Given the description of an element on the screen output the (x, y) to click on. 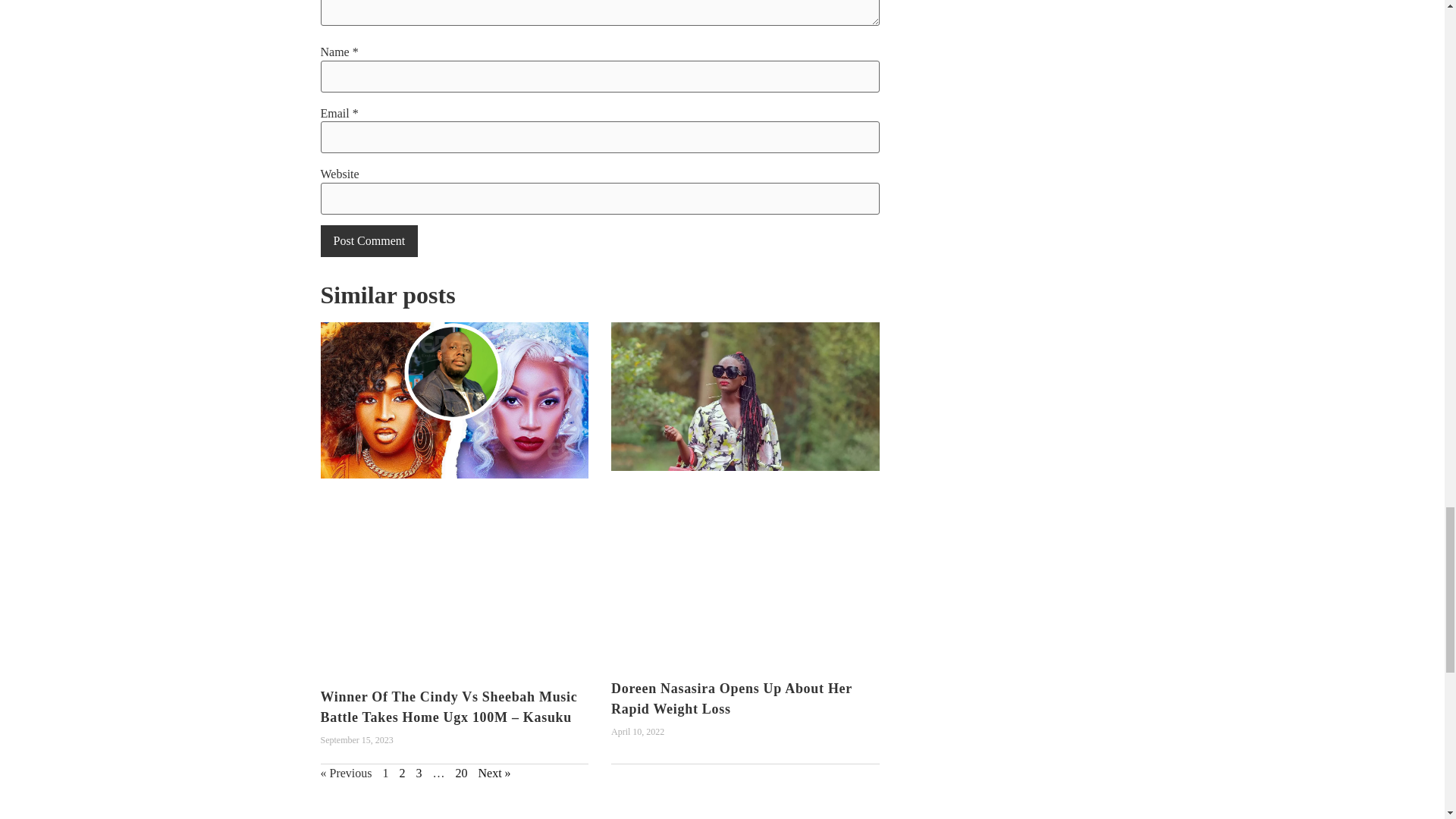
Post Comment (368, 241)
20 (460, 772)
Doreen Nasasira Opens Up About Her Rapid Weight Loss (731, 698)
Post Comment (368, 241)
